Given the description of an element on the screen output the (x, y) to click on. 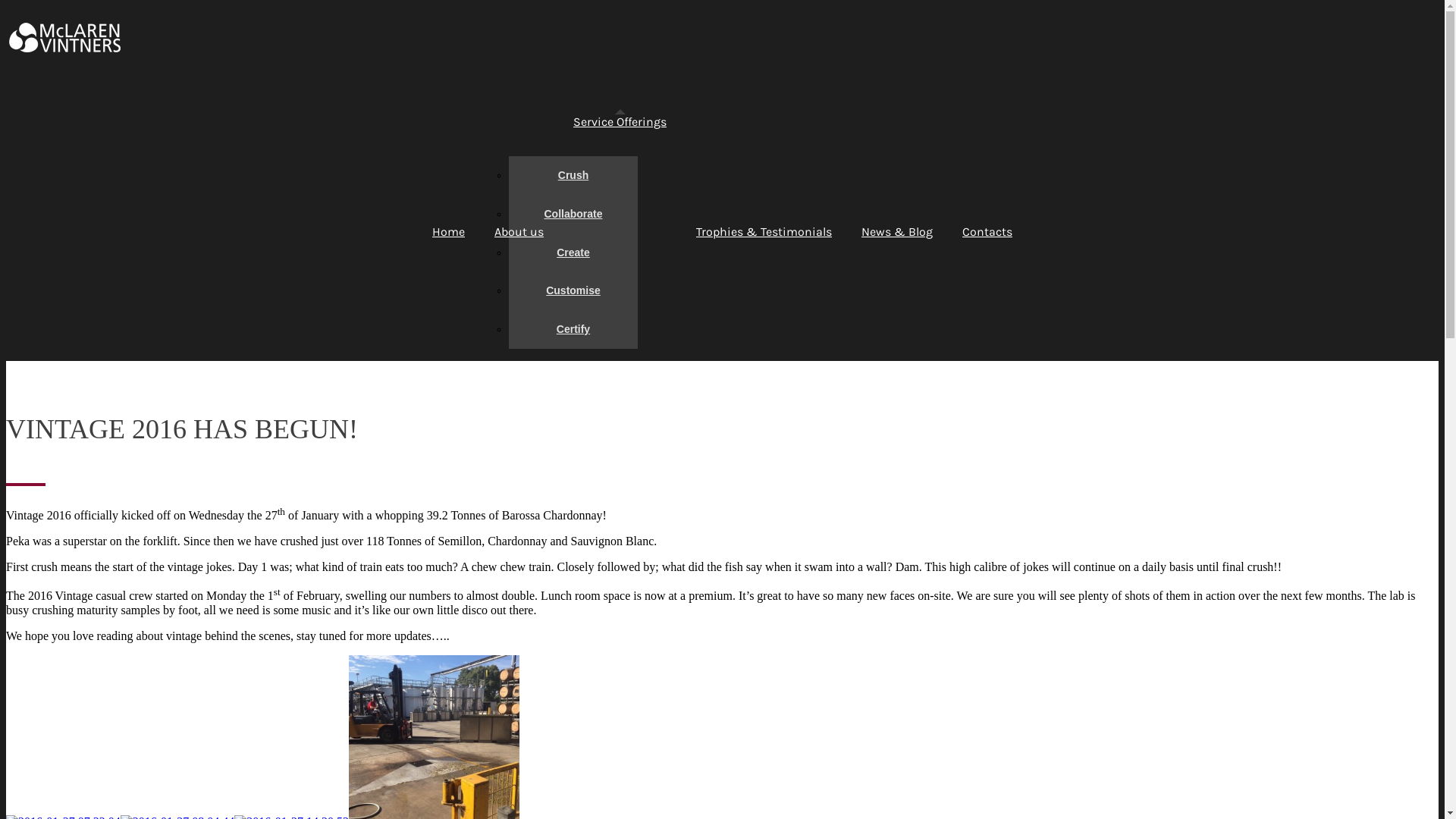
Home Element type: text (448, 231)
About us Element type: text (518, 231)
News & Blog Element type: text (896, 231)
Create Element type: text (572, 252)
Trophies & Testimonials Element type: text (763, 231)
Customise Element type: text (572, 290)
Collaborate Element type: text (572, 213)
Crush Element type: text (572, 175)
Service Offerings Element type: text (619, 121)
Contacts Element type: text (987, 231)
Certify Element type: text (572, 329)
